Given the description of an element on the screen output the (x, y) to click on. 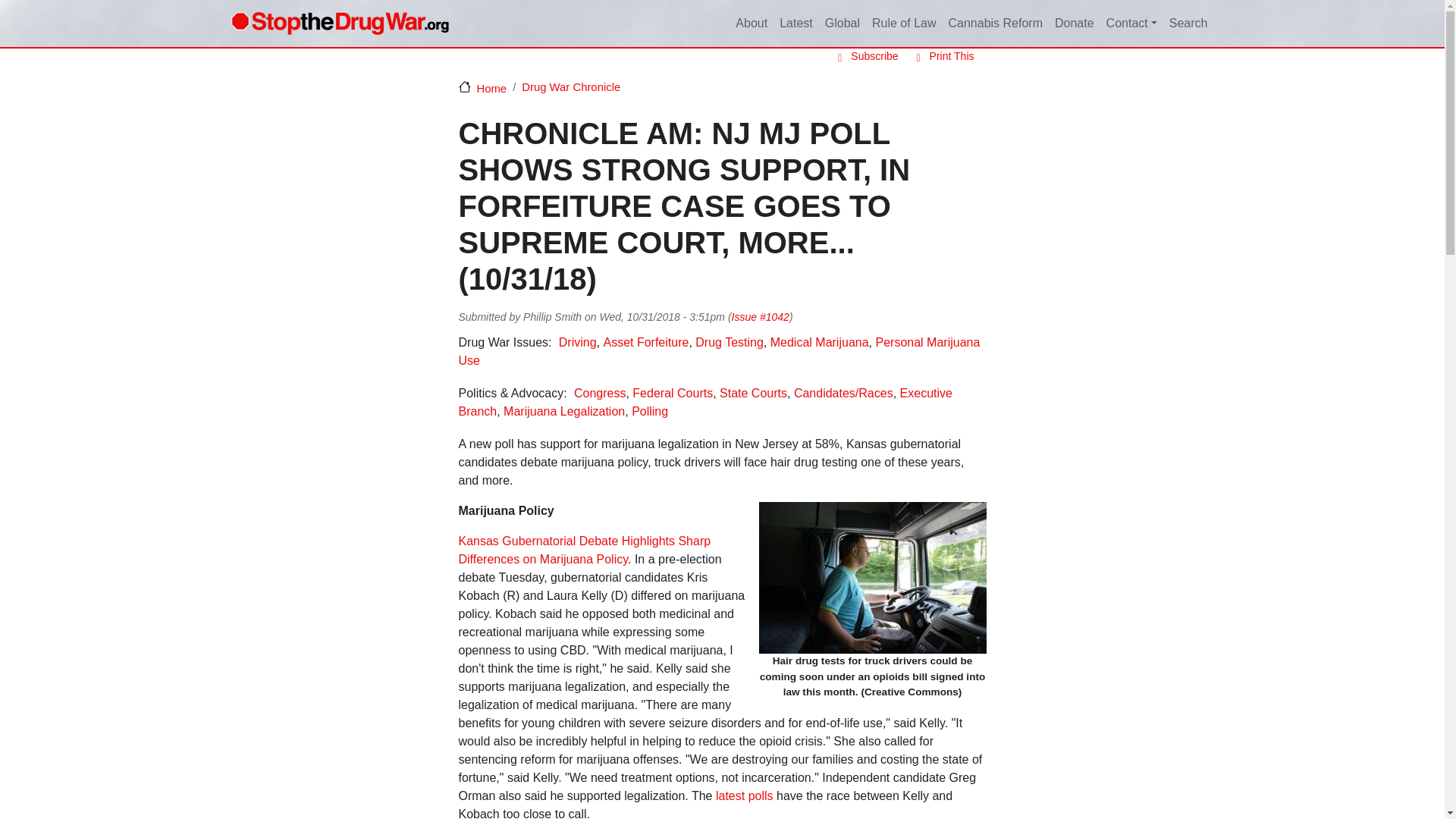
Search (1188, 23)
Contact (1131, 23)
Donate (1074, 23)
Please Support Our Work (1074, 23)
Global (842, 23)
Wednesday, October 31, 2018 - 3:51pm (661, 316)
Home (339, 23)
Subscribe (864, 55)
Share to Reddit (932, 316)
Share to Email (953, 316)
Print This (942, 55)
About (751, 23)
Cannabis Reform (995, 23)
Share to Linkedin (911, 316)
Rule of Law (904, 23)
